Given the description of an element on the screen output the (x, y) to click on. 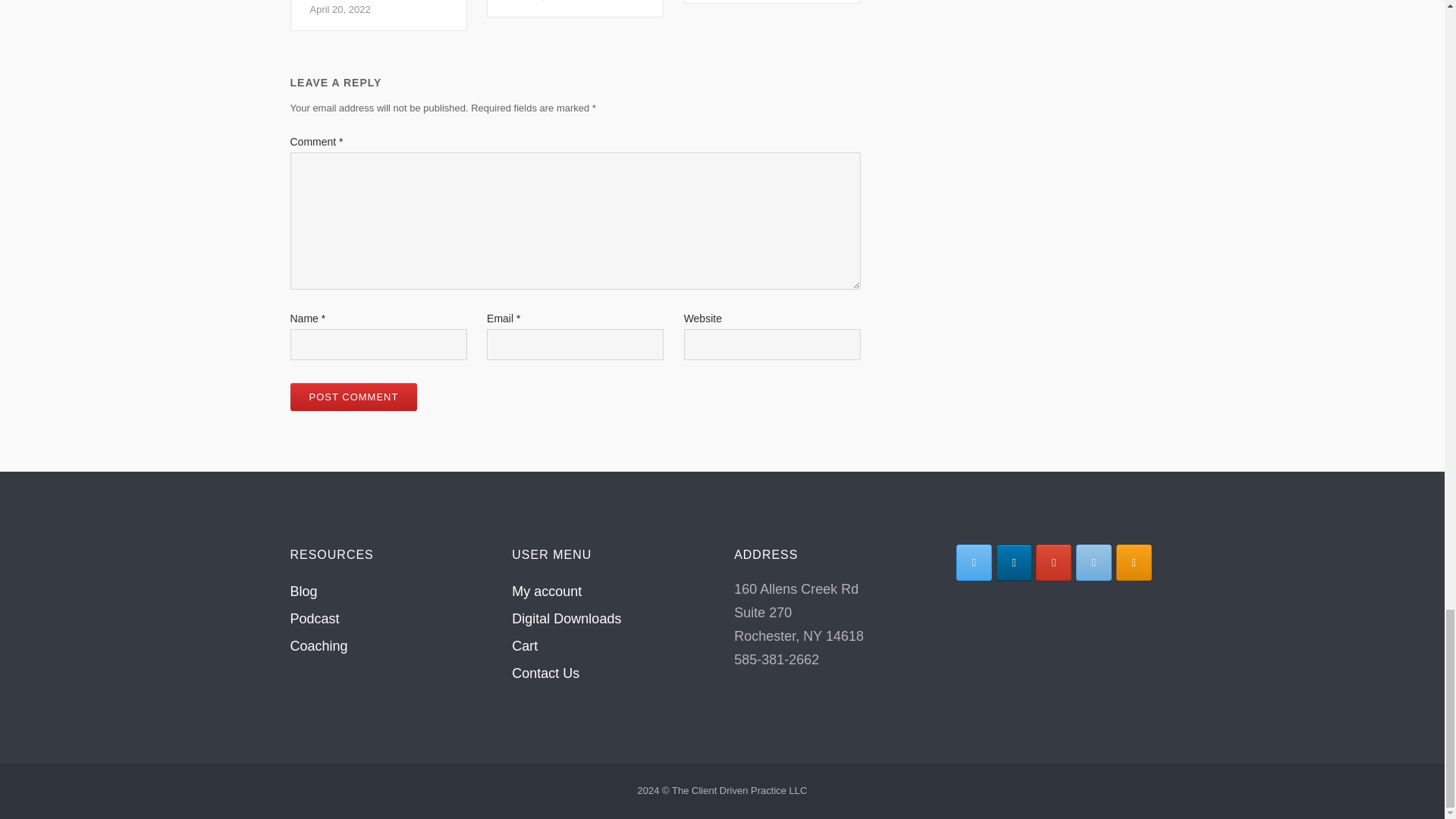
Podcast (314, 618)
The Client Driven Practice LLC on Envelope (1093, 562)
The Client Driven Practice LLC on Google (1053, 562)
My account (546, 590)
Digital Downloads (566, 618)
Post Comment (352, 397)
The Client Driven Practice LLC on X Twitter (973, 562)
Your financial plan is probably too long (772, 1)
Post Comment (352, 397)
Coaching (772, 1)
Contact Us (318, 645)
The Client Driven Practice LLC on Rss (545, 672)
Cart (1133, 562)
